Given the description of an element on the screen output the (x, y) to click on. 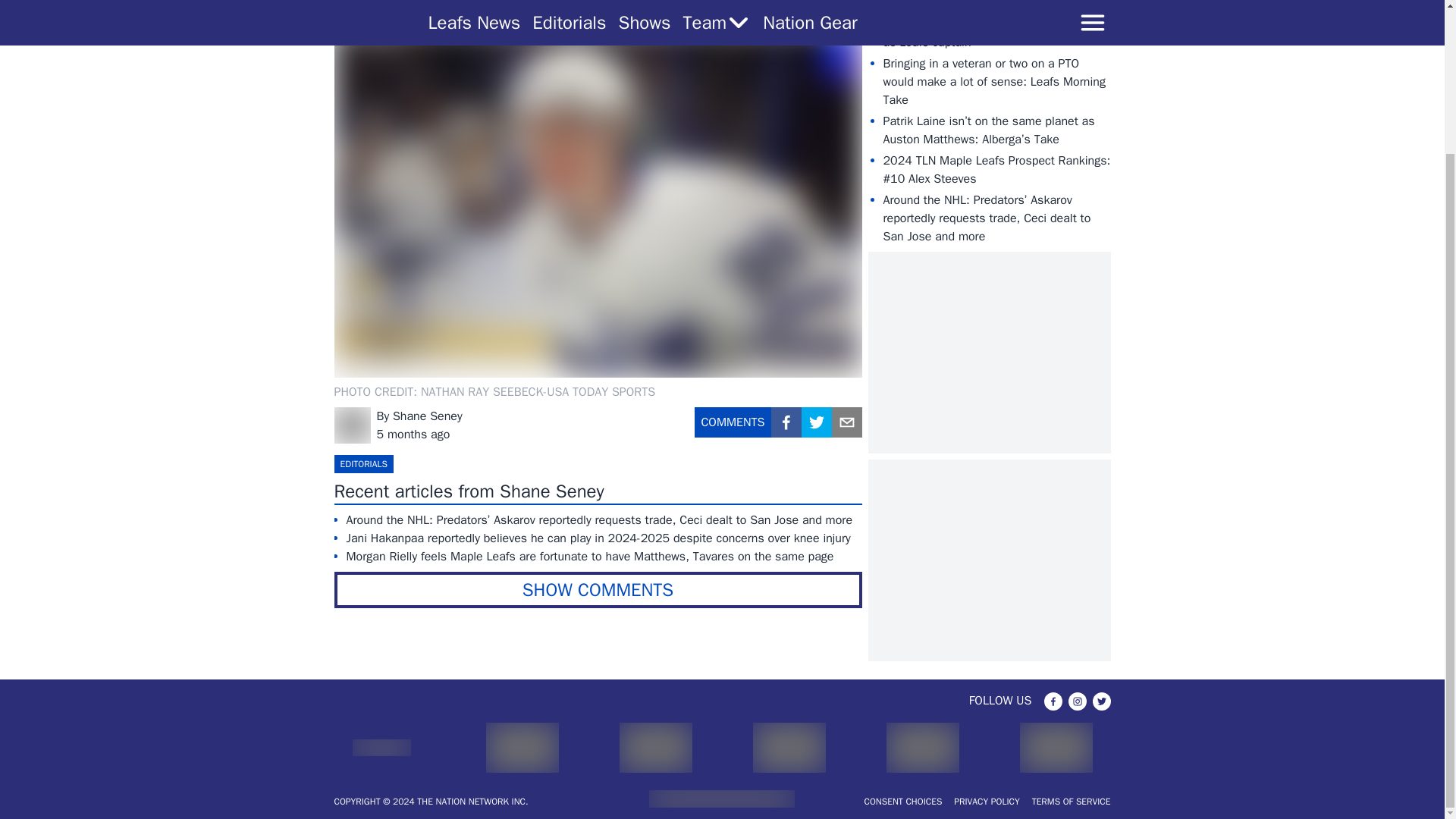
SHOW COMMENTS (597, 589)
EDITORIALS (363, 464)
COMMENTS (732, 427)
Shane Seney (428, 416)
SHOW COMMENTS (597, 589)
